Given the description of an element on the screen output the (x, y) to click on. 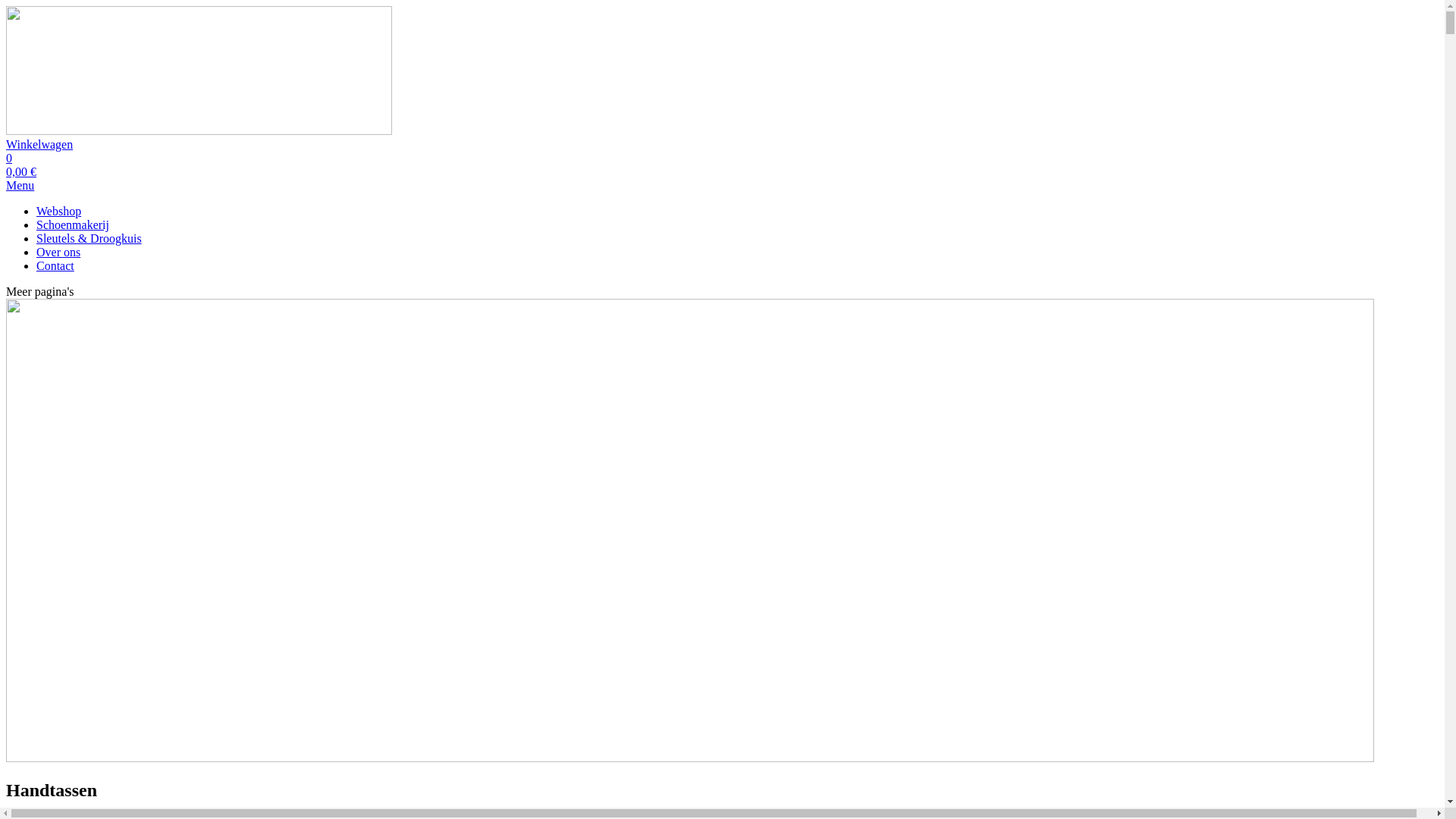
Over ons Element type: text (58, 251)
Sleutels & Droogkuis Element type: text (88, 238)
Webshop Element type: text (58, 210)
Menu Element type: text (20, 184)
Contact Element type: text (55, 265)
Schoenmakerij Element type: text (72, 224)
